Given the description of an element on the screen output the (x, y) to click on. 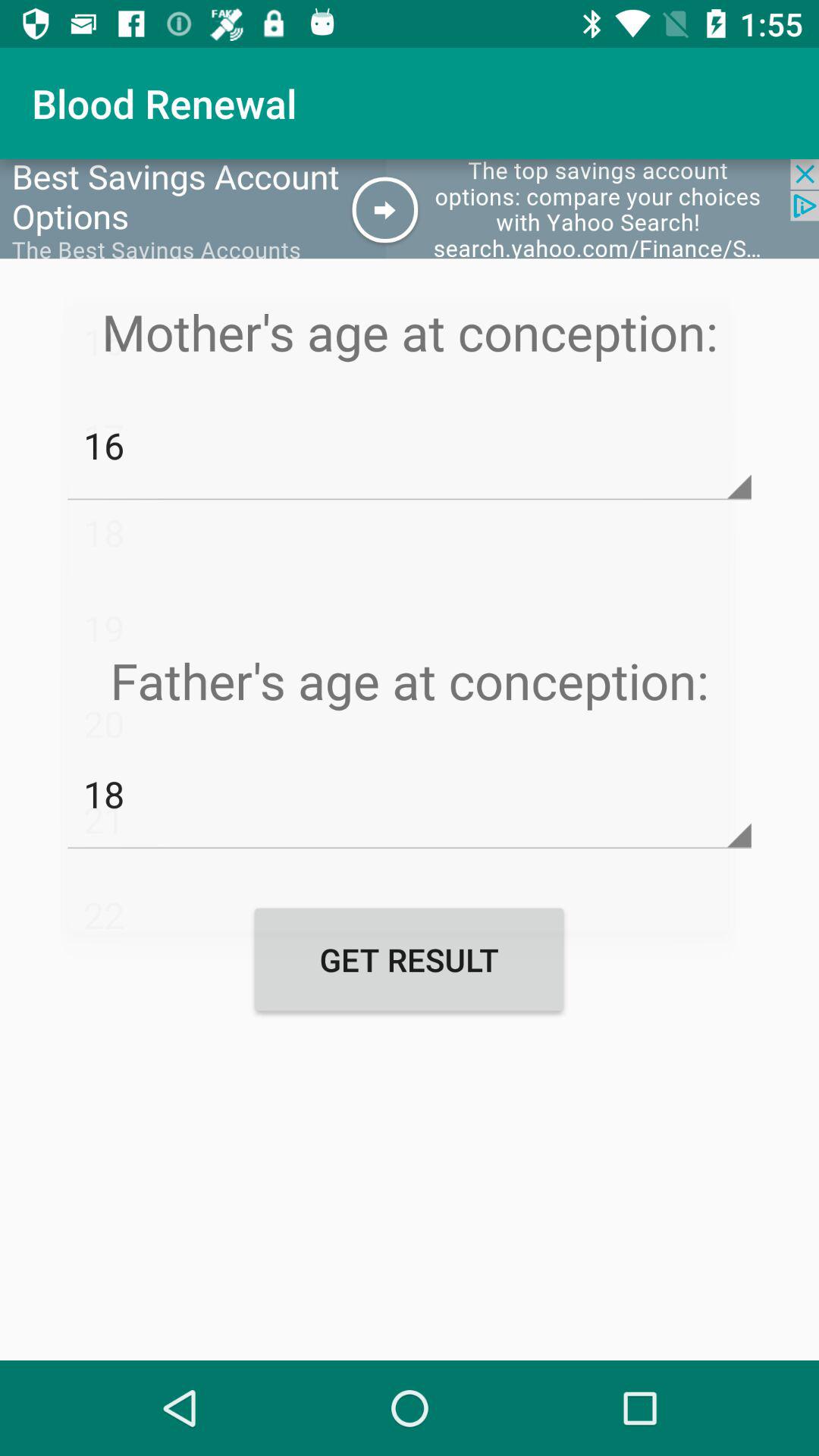
jump to the get result button (408, 959)
